Given the description of an element on the screen output the (x, y) to click on. 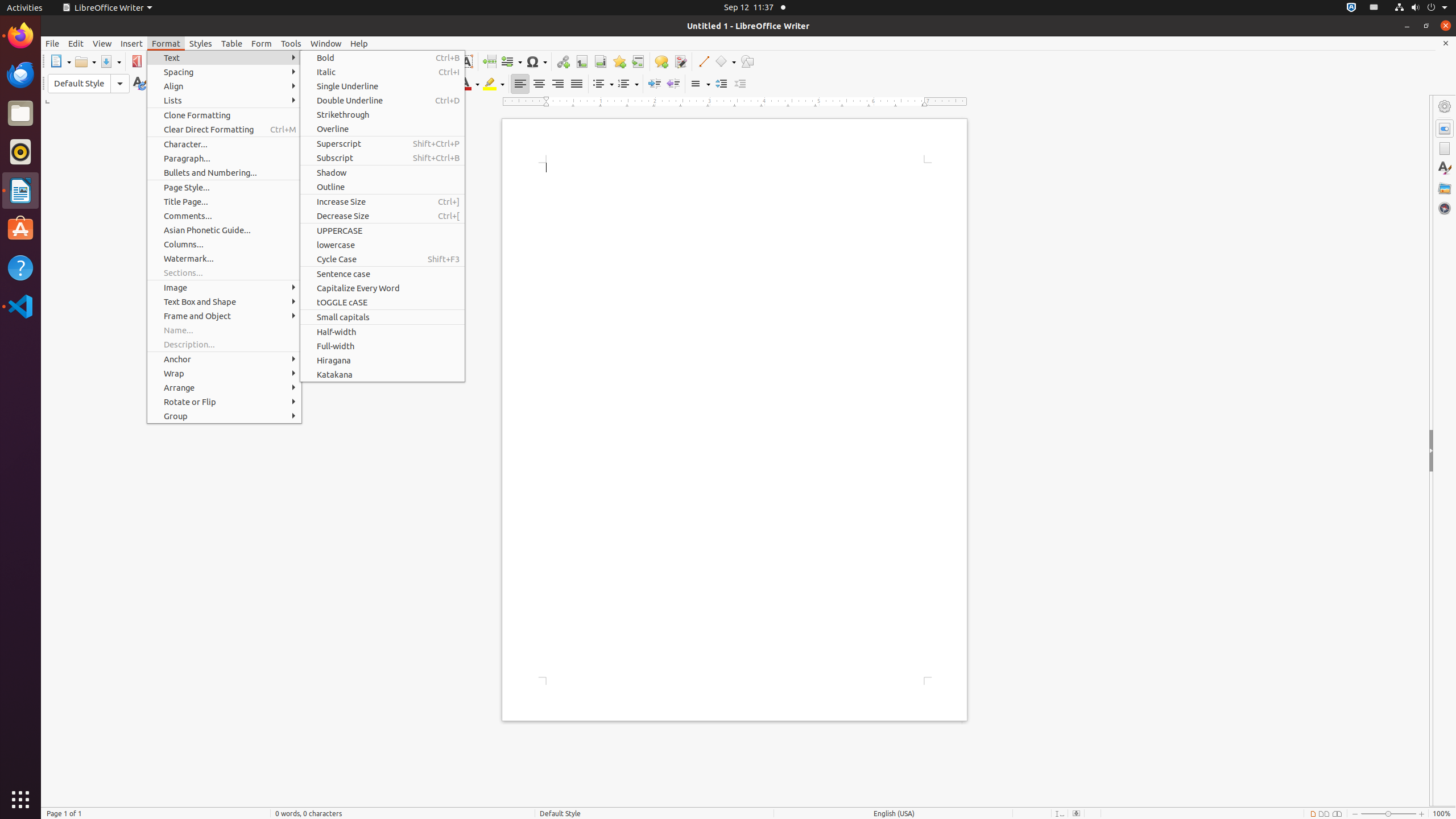
Image Element type: push-button (428, 61)
UPPERCASE Element type: menu-item (382, 230)
Table Element type: push-button (406, 61)
Clear Direct Formatting Element type: menu-item (224, 129)
Italic Element type: toggle-button (338, 83)
